Given the description of an element on the screen output the (x, y) to click on. 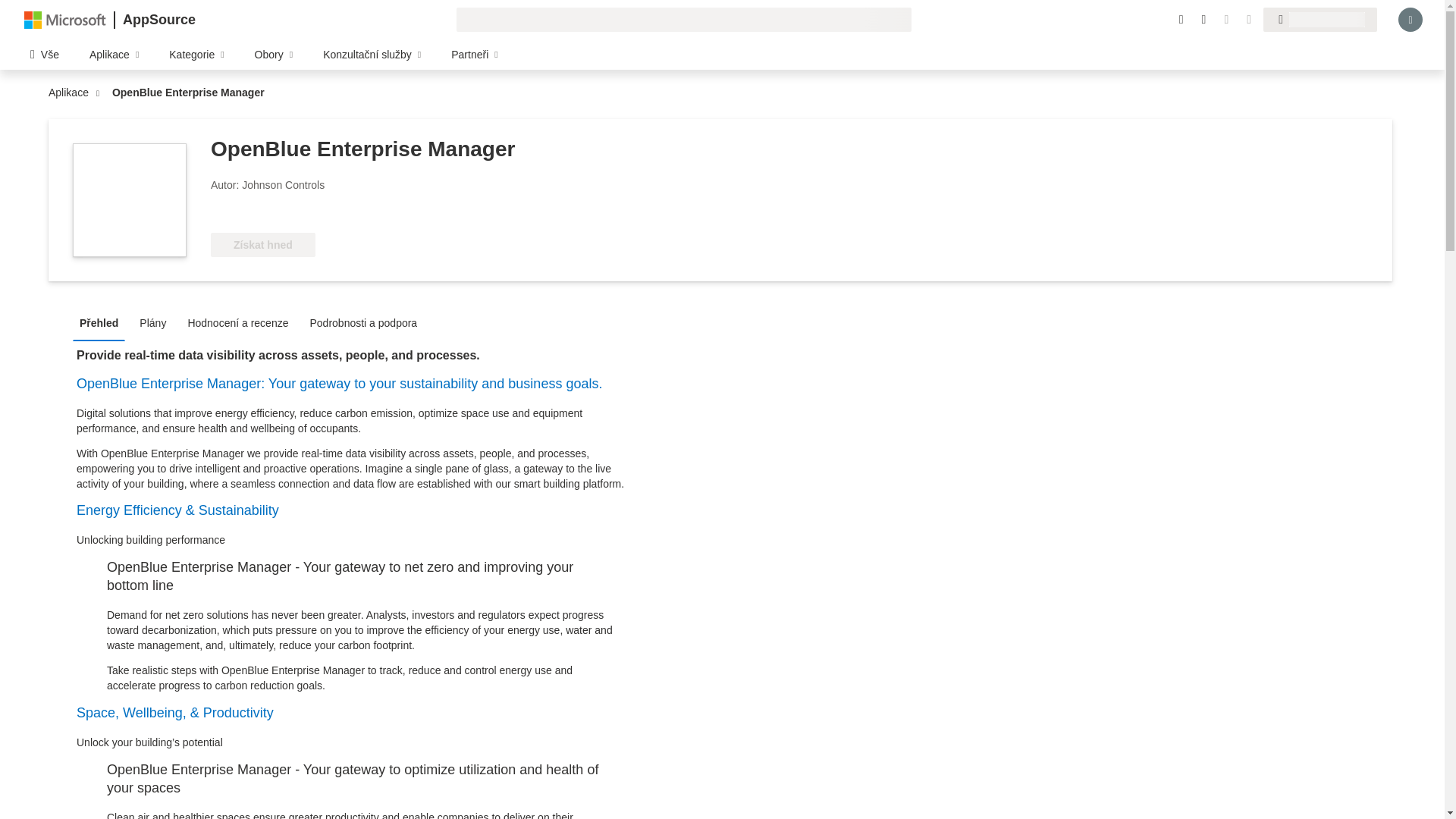
Microsoft (65, 18)
Aplikace (72, 92)
Podrobnosti a podpora (366, 322)
AppSource (158, 19)
